Given the description of an element on the screen output the (x, y) to click on. 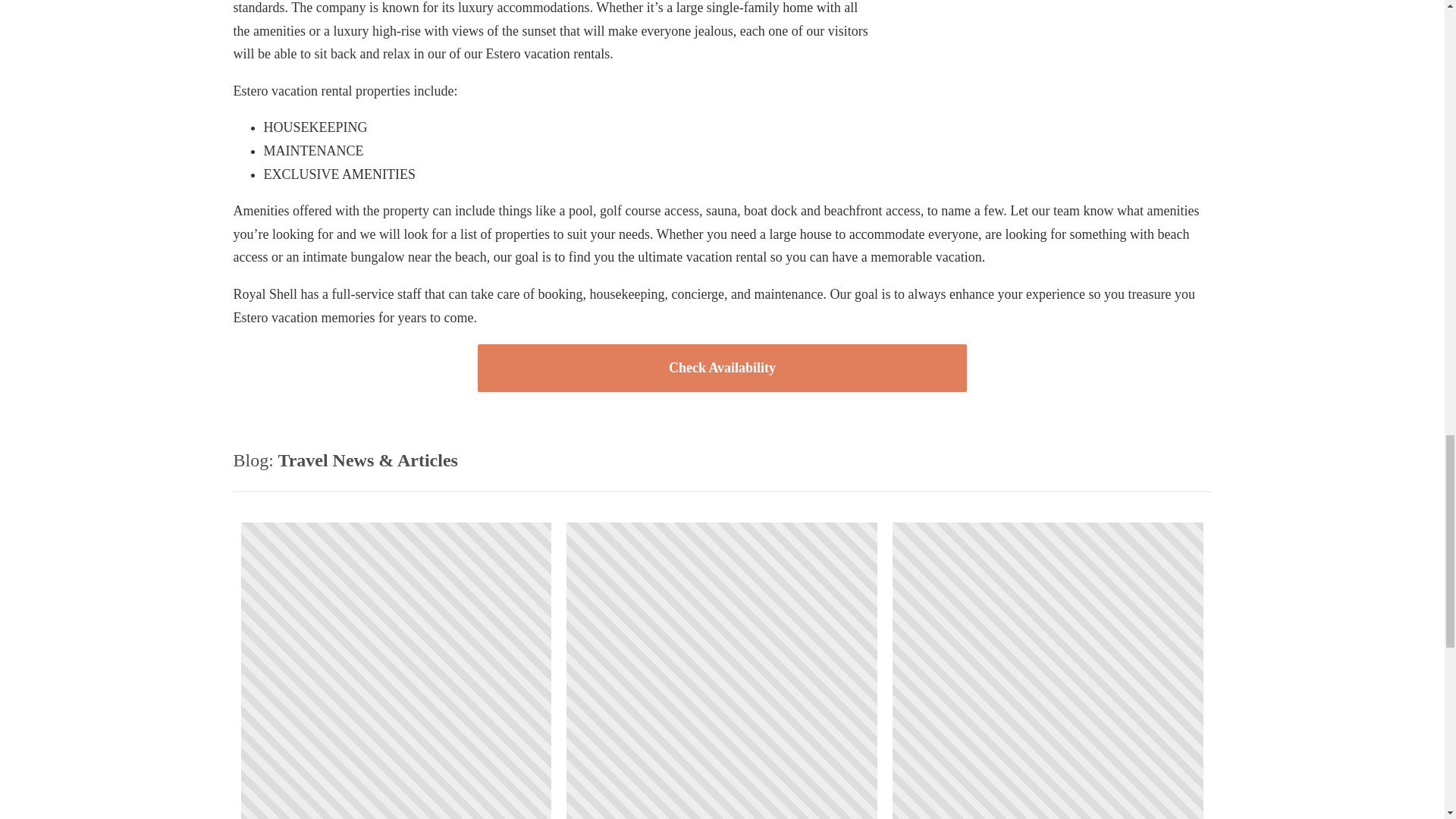
March 18, 2020 (1048, 670)
Check Availability (721, 367)
March 18, 2020 (721, 670)
March 18, 2020 (396, 670)
